Given the description of an element on the screen output the (x, y) to click on. 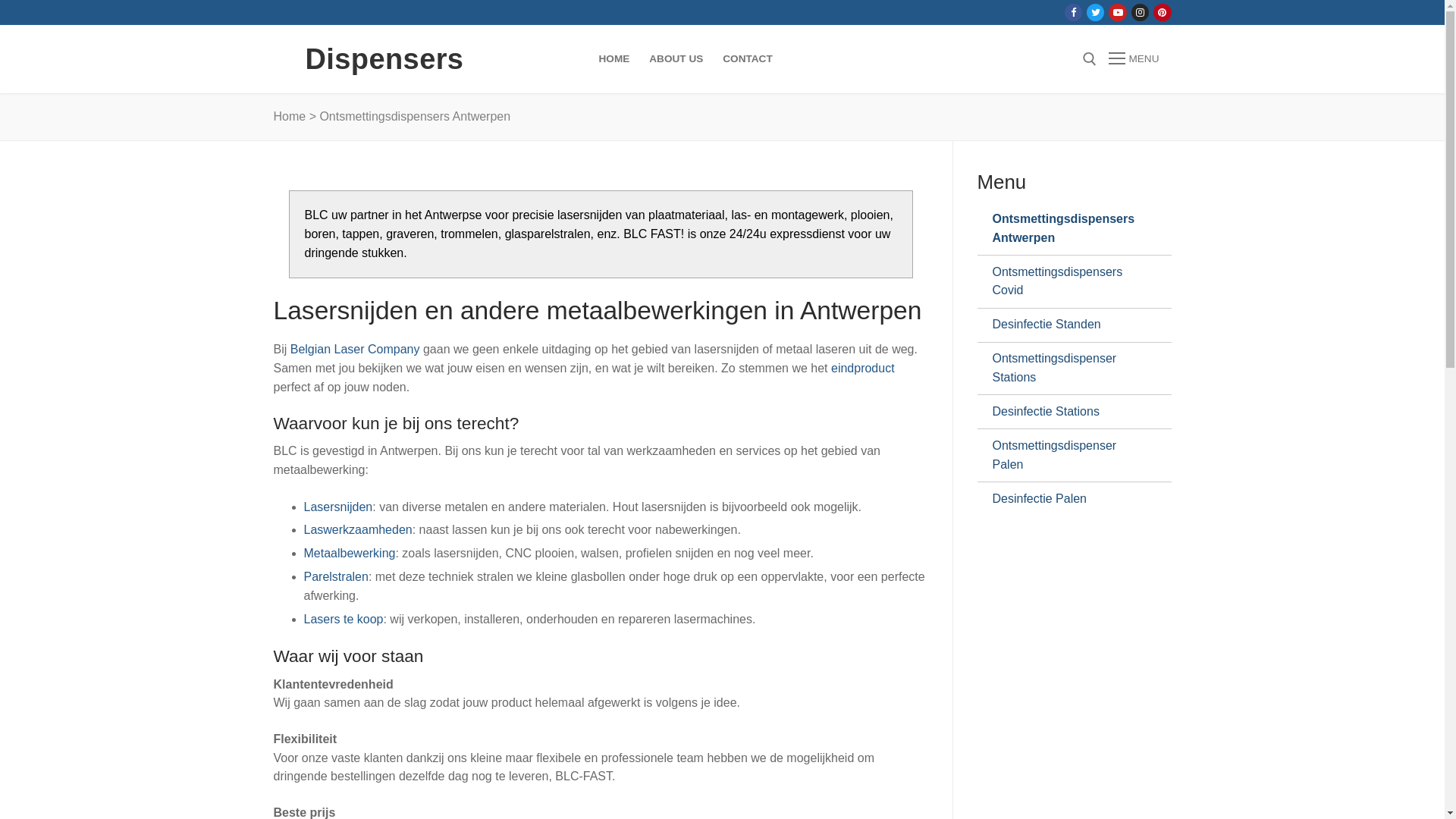
CONTACT Element type: text (746, 58)
Laswerkzaamheden Element type: text (357, 529)
Ontsmettingsdispenser Palen Element type: text (1067, 455)
Pinterest Element type: hover (1162, 12)
HOME Element type: text (613, 58)
Facebook Element type: hover (1073, 12)
eindproduct Element type: text (862, 367)
Metaalbewerking Element type: text (349, 552)
Instagram Element type: hover (1140, 12)
Twitter Element type: hover (1095, 12)
Ontsmettingsdispensers Covid Element type: text (1067, 281)
Desinfectie Standen Element type: text (1067, 325)
Ontsmettingsdispenser Stations Element type: text (1067, 368)
Desinfectie Palen Element type: text (1067, 498)
Ontsmettingsdispensers Antwerpen Element type: text (1067, 228)
Youtube Element type: hover (1118, 12)
Lasersnijden Element type: text (337, 506)
Belgian Laser Company Element type: text (355, 348)
Lasers te koop Element type: text (342, 618)
Naar de inhoud springen Element type: text (0, 0)
MENU Element type: text (1133, 59)
Desinfectie Stations Element type: text (1067, 411)
Parelstralen Element type: text (335, 576)
Dispensers Element type: text (383, 58)
ABOUT US Element type: text (675, 58)
